Given the description of an element on the screen output the (x, y) to click on. 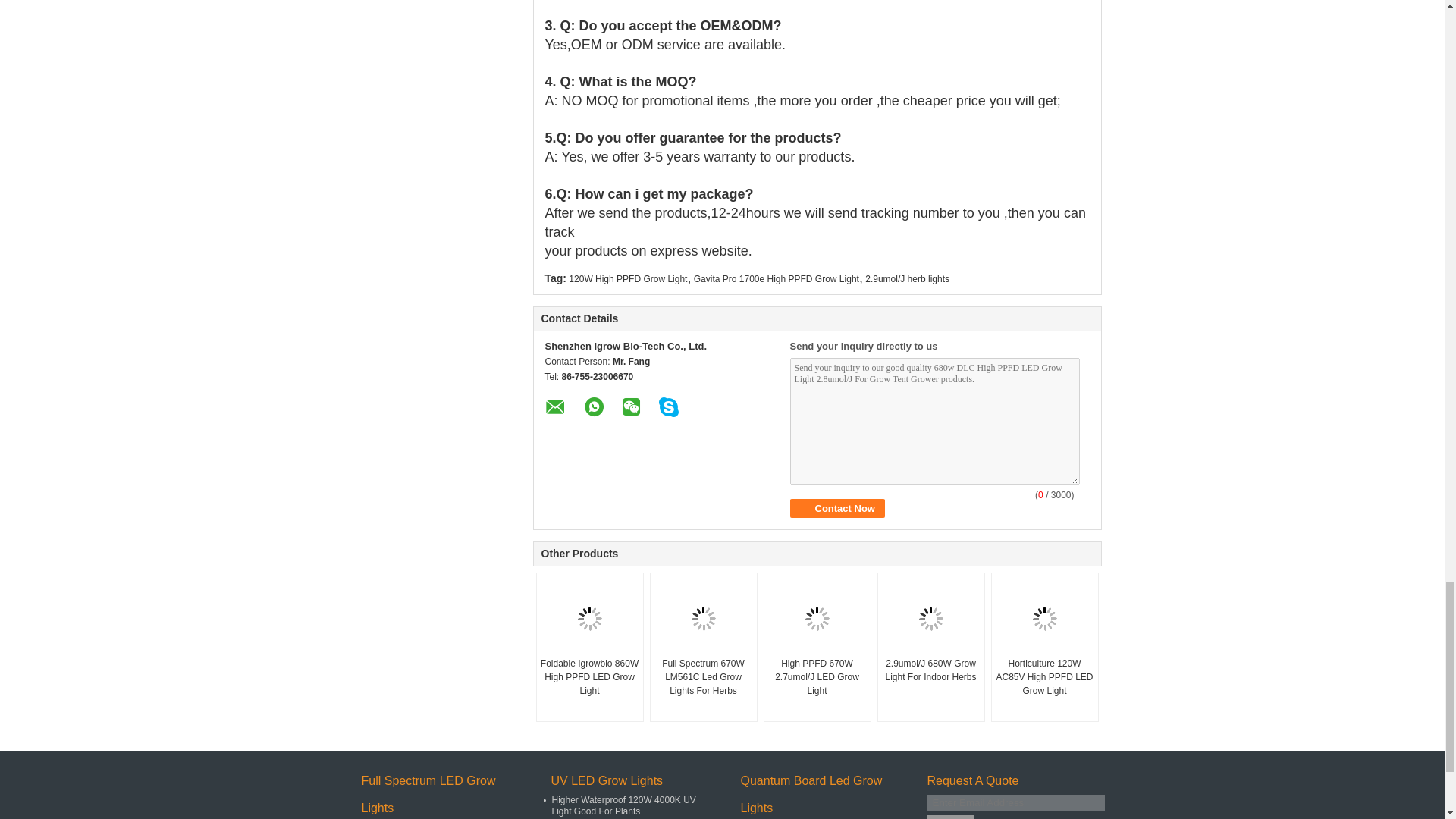
Contact Now (837, 507)
